Given the description of an element on the screen output the (x, y) to click on. 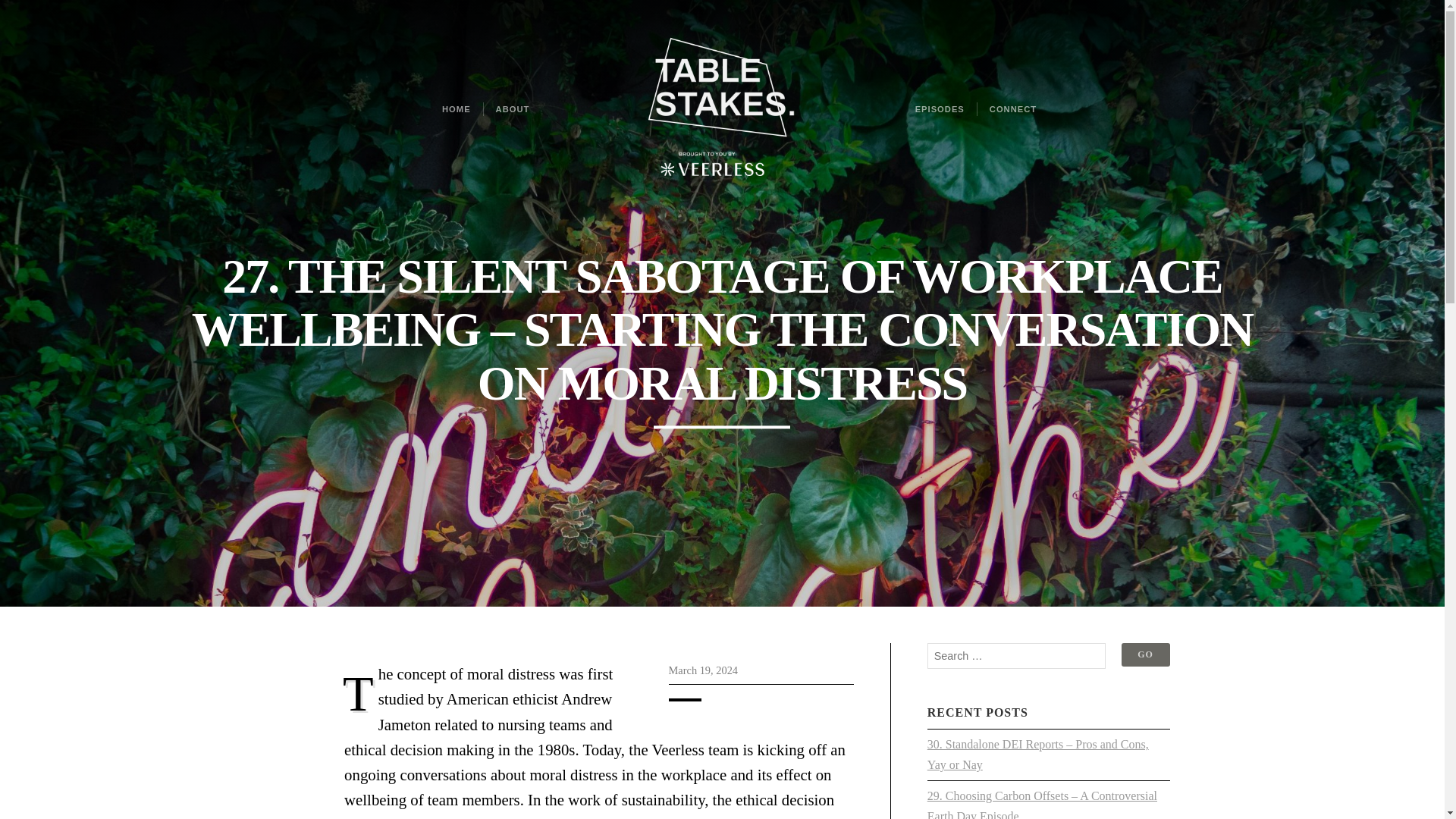
ABOUT (512, 109)
Go (1145, 654)
Table Stakes Podcast (721, 109)
CONNECT (1012, 109)
Go (1145, 654)
EPISODES (939, 109)
HOME (456, 109)
